Given the description of an element on the screen output the (x, y) to click on. 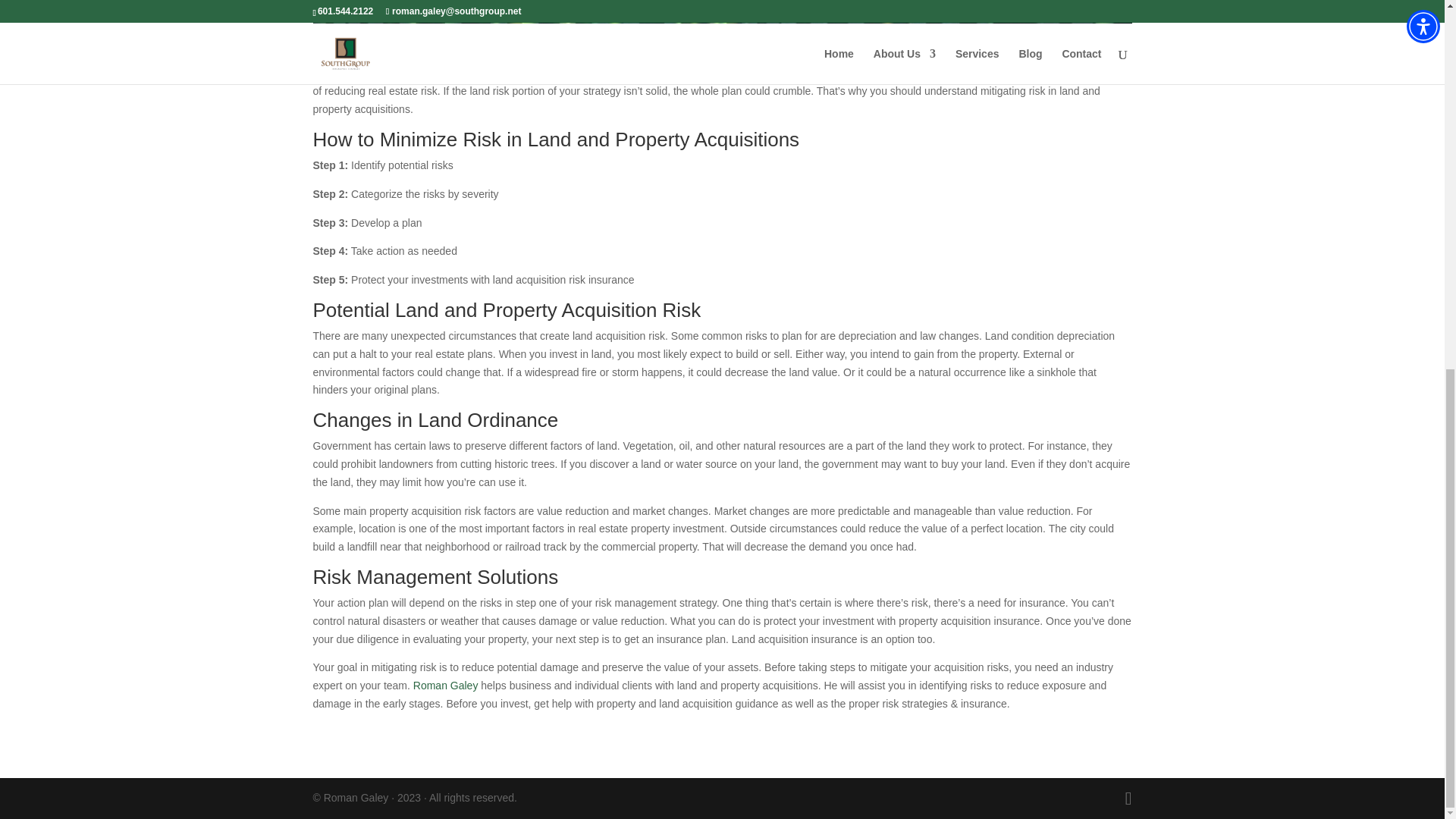
minimizing risk in real estate (496, 73)
Roman Galey (446, 685)
